Given the description of an element on the screen output the (x, y) to click on. 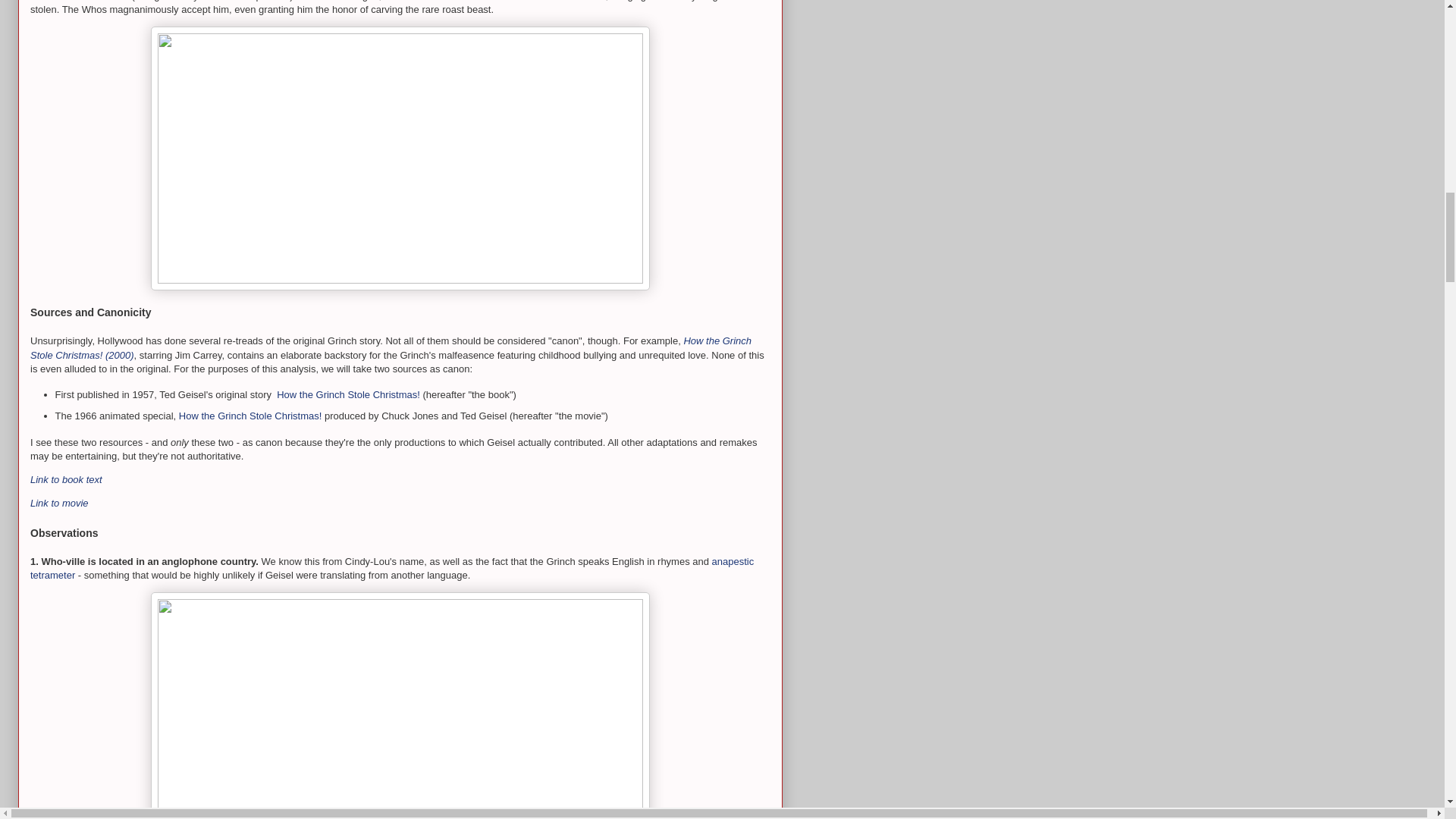
How the Grinch Stole Christmas! (348, 394)
Link to book text (65, 479)
Link to movie  (60, 502)
How the Grinch Stole Christmas! (250, 415)
anapestic tetrameter (392, 568)
